Given the description of an element on the screen output the (x, y) to click on. 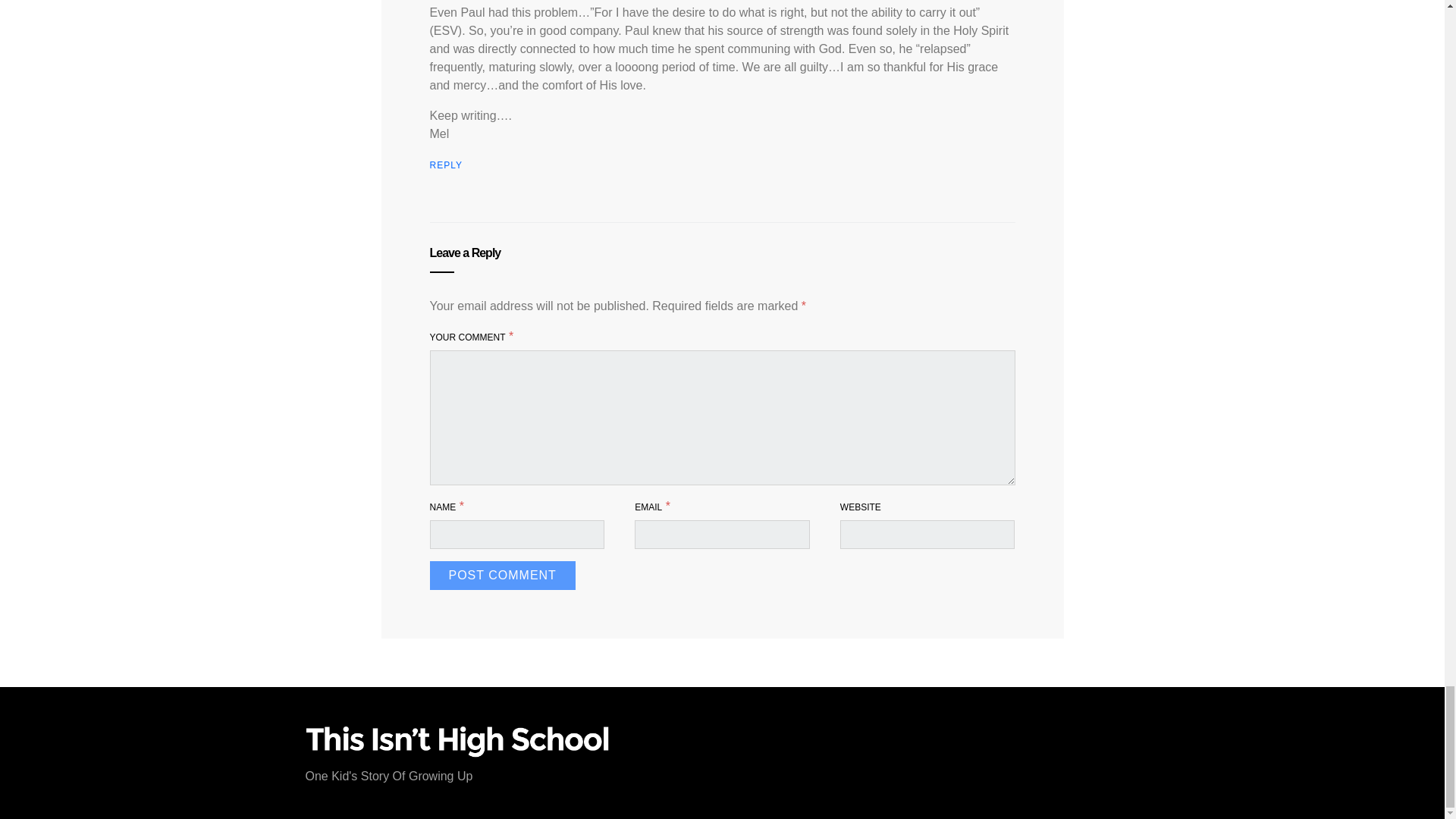
Post Comment (502, 575)
REPLY (445, 164)
Post Comment (502, 575)
